Given the description of an element on the screen output the (x, y) to click on. 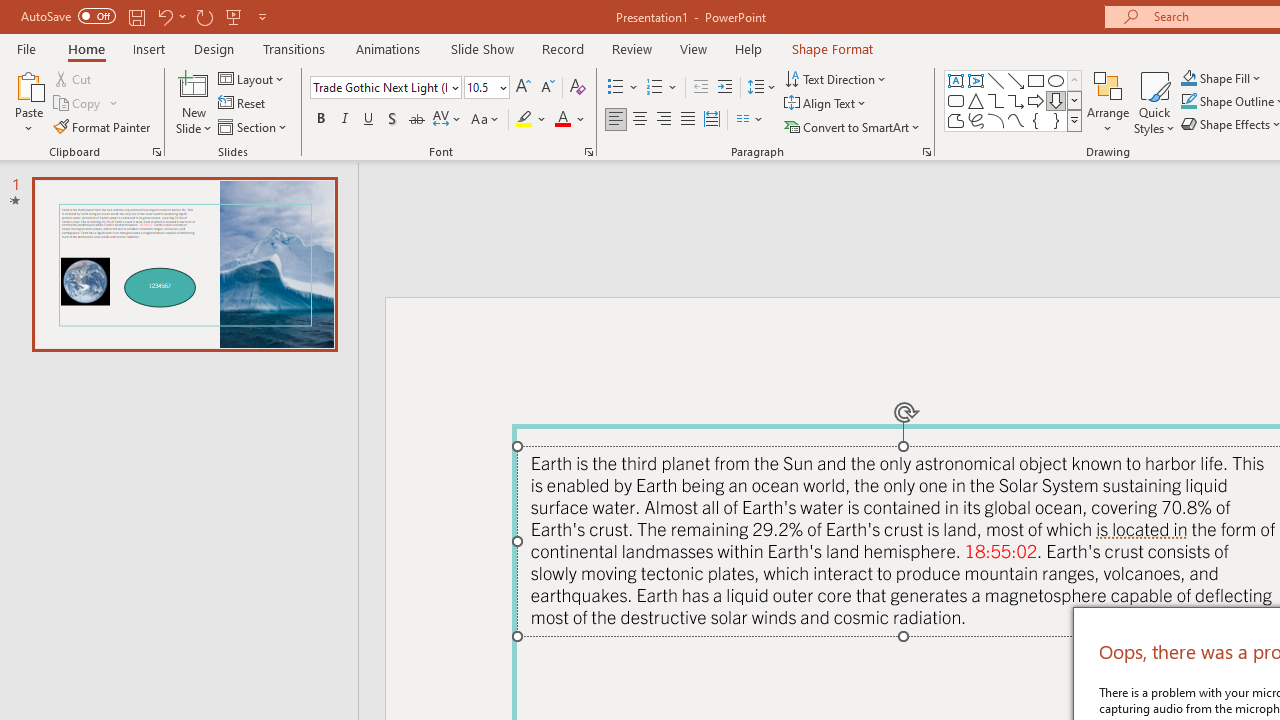
From Beginning (234, 15)
Columns (750, 119)
New Slide (193, 84)
Customize Quick Access Toolbar (262, 15)
Freeform: Scribble (975, 120)
Shape Fill (1221, 78)
Distributed (712, 119)
Slide Show (481, 48)
Font (385, 87)
Open (502, 87)
Home (86, 48)
Shadow (392, 119)
Shape Format (832, 48)
Line (995, 80)
Undo (170, 15)
